Given the description of an element on the screen output the (x, y) to click on. 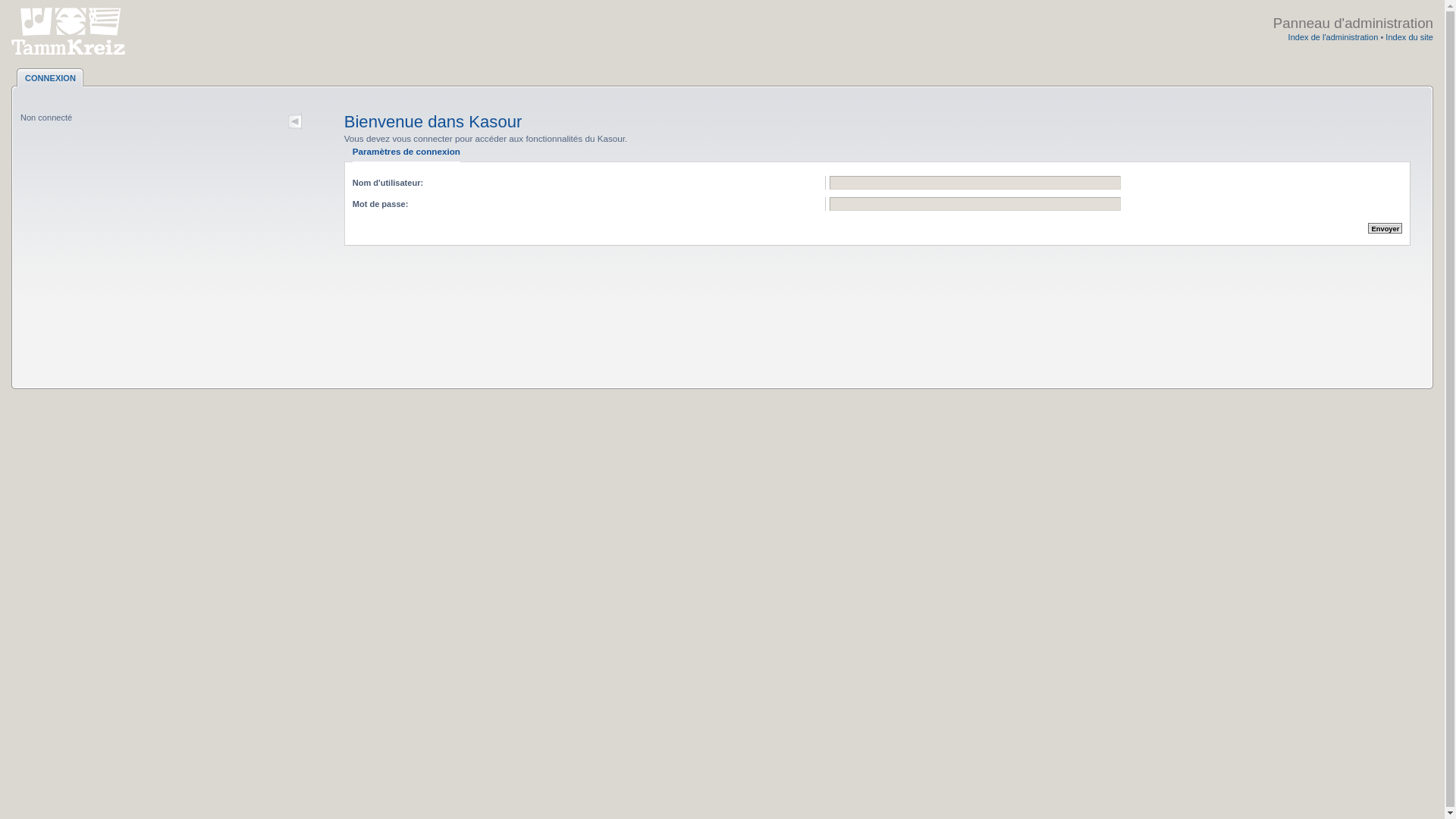
CONNEXION Element type: text (49, 77)
Index du site Element type: text (1409, 36)
Envoyer Element type: text (1385, 227)
Index de l'administration Element type: text (1333, 36)
